Given the description of an element on the screen output the (x, y) to click on. 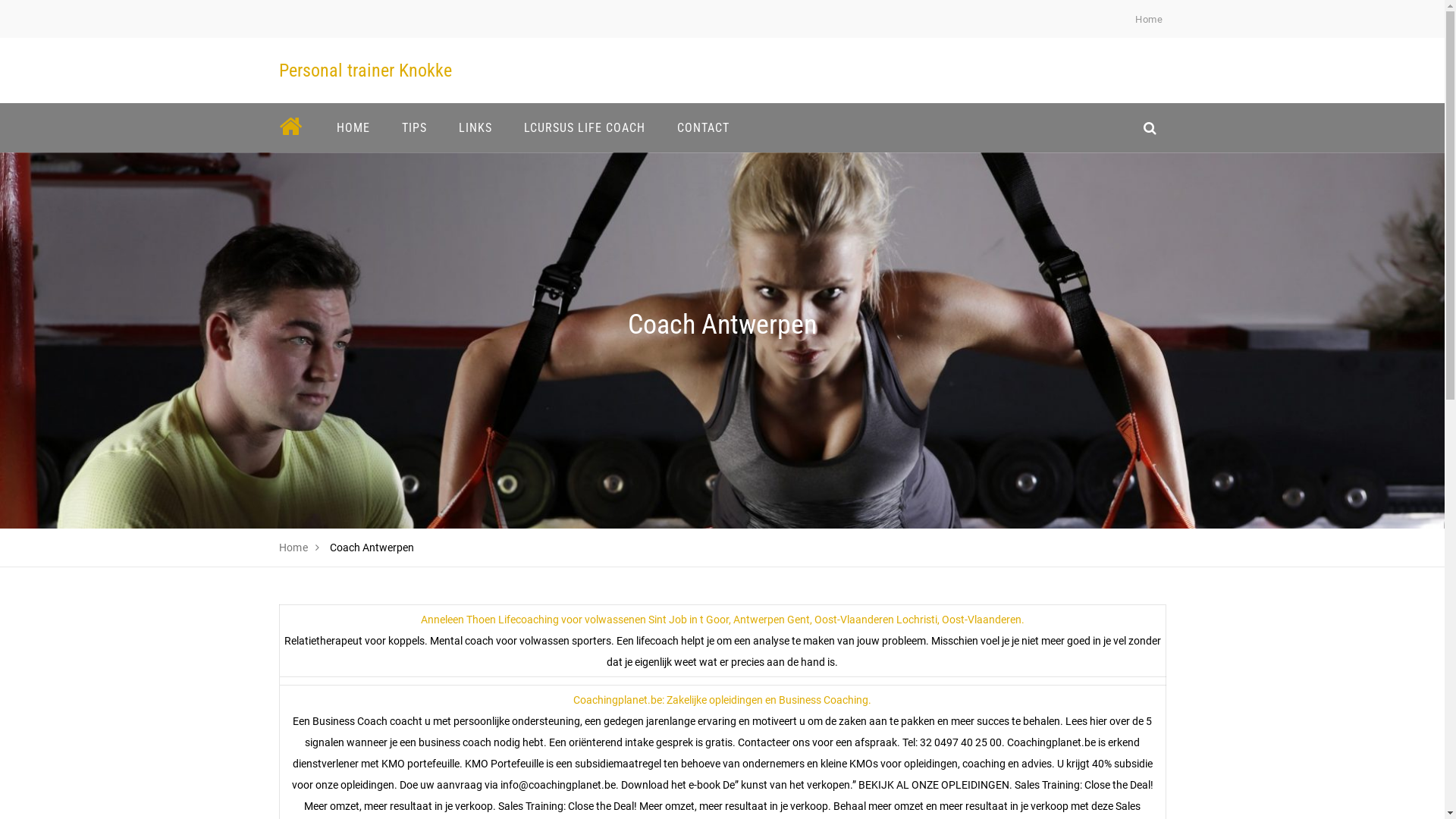
CONTACT Element type: text (703, 127)
LCURSUS LIFE COACH Element type: text (584, 127)
Home Element type: text (293, 547)
search_icon Element type: hover (1148, 127)
Personal trainer Knokke Element type: text (365, 70)
TIPS Element type: text (413, 127)
LINKS Element type: text (475, 127)
Home Element type: text (1148, 19)
HOME Element type: text (352, 127)
